Given the description of an element on the screen output the (x, y) to click on. 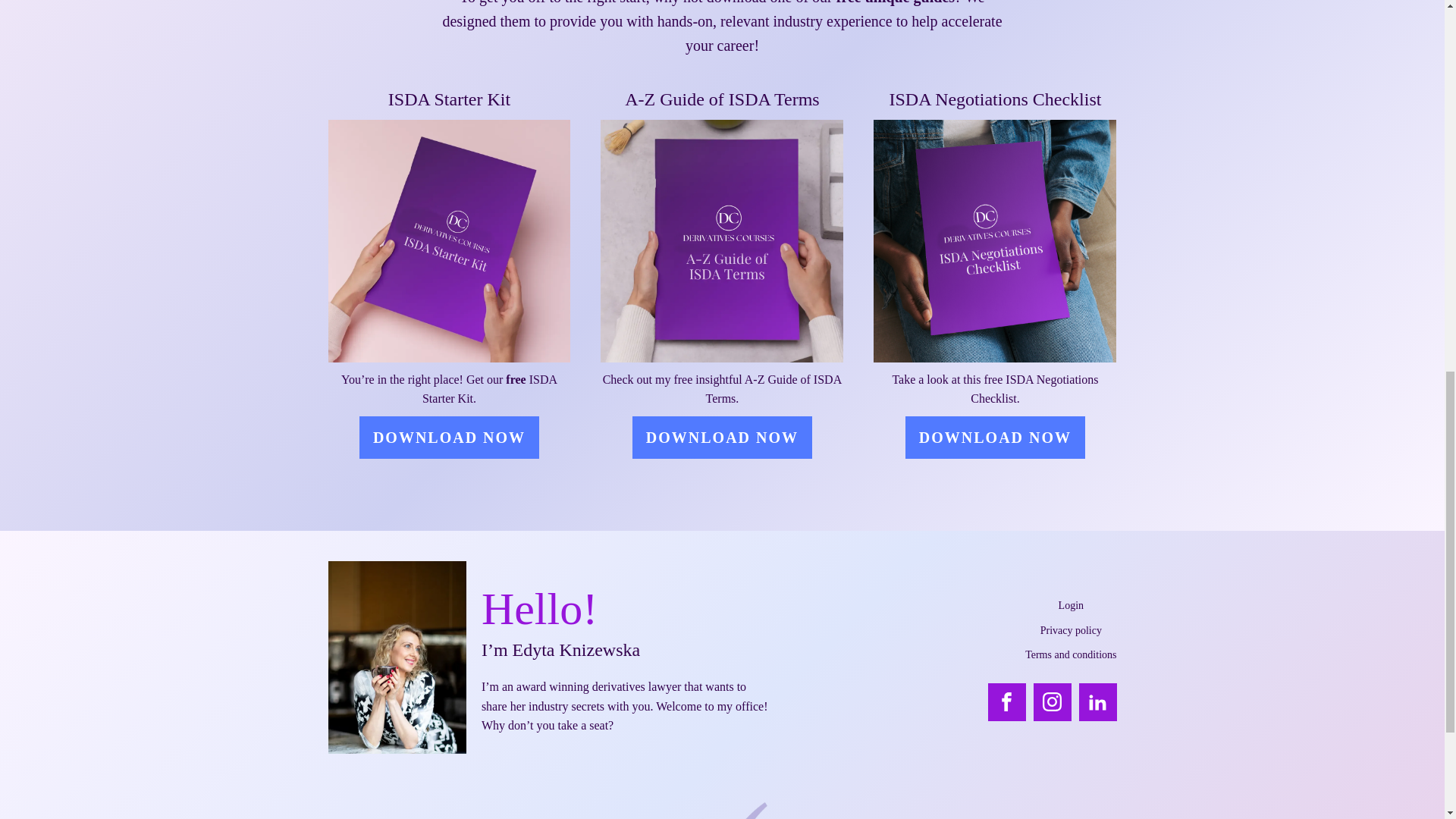
Terms and conditions (1070, 654)
Login (1070, 605)
DOWNLOAD NOW (721, 437)
DOWNLOAD NOW (994, 437)
Privacy policy (1070, 630)
DOWNLOAD NOW (448, 437)
